Given the description of an element on the screen output the (x, y) to click on. 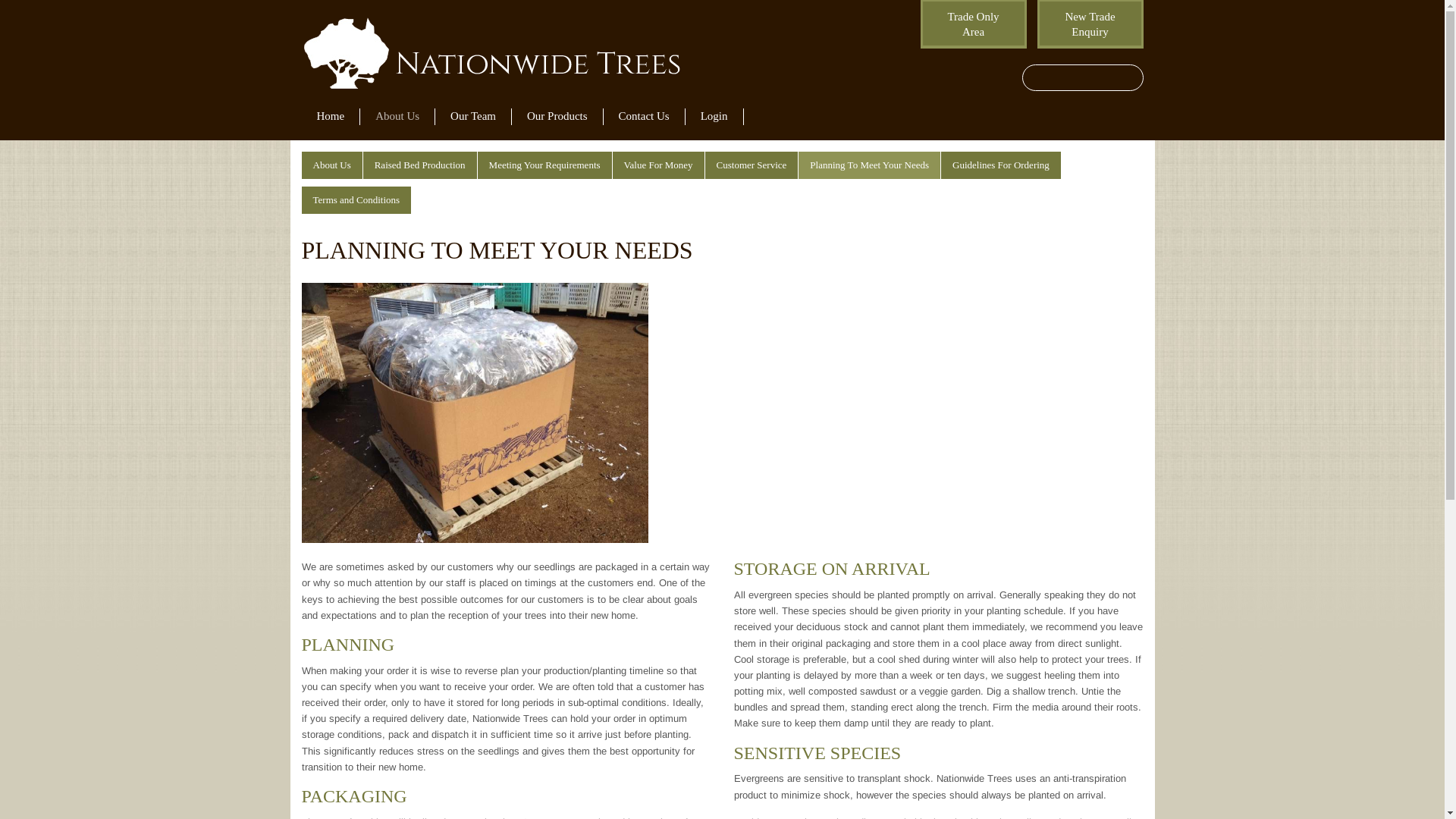
Raised Bed Production Element type: text (419, 164)
Trade Only Area Element type: text (973, 24)
Terms and Conditions Element type: text (356, 199)
Planning To Meet Your Needs Element type: text (869, 164)
Guidelines For Ordering Element type: text (1000, 164)
Meeting Your Requirements Element type: text (544, 164)
Login Element type: text (714, 116)
Our Products Element type: text (556, 116)
Home Element type: text (330, 116)
About Us Element type: text (331, 164)
New Trade Enquiry Element type: text (1090, 24)
Our Team Element type: text (473, 116)
About Us Element type: text (397, 116)
Value For Money Element type: text (658, 164)
Contact Us Element type: text (643, 116)
Customer Service Element type: text (751, 164)
